Given the description of an element on the screen output the (x, y) to click on. 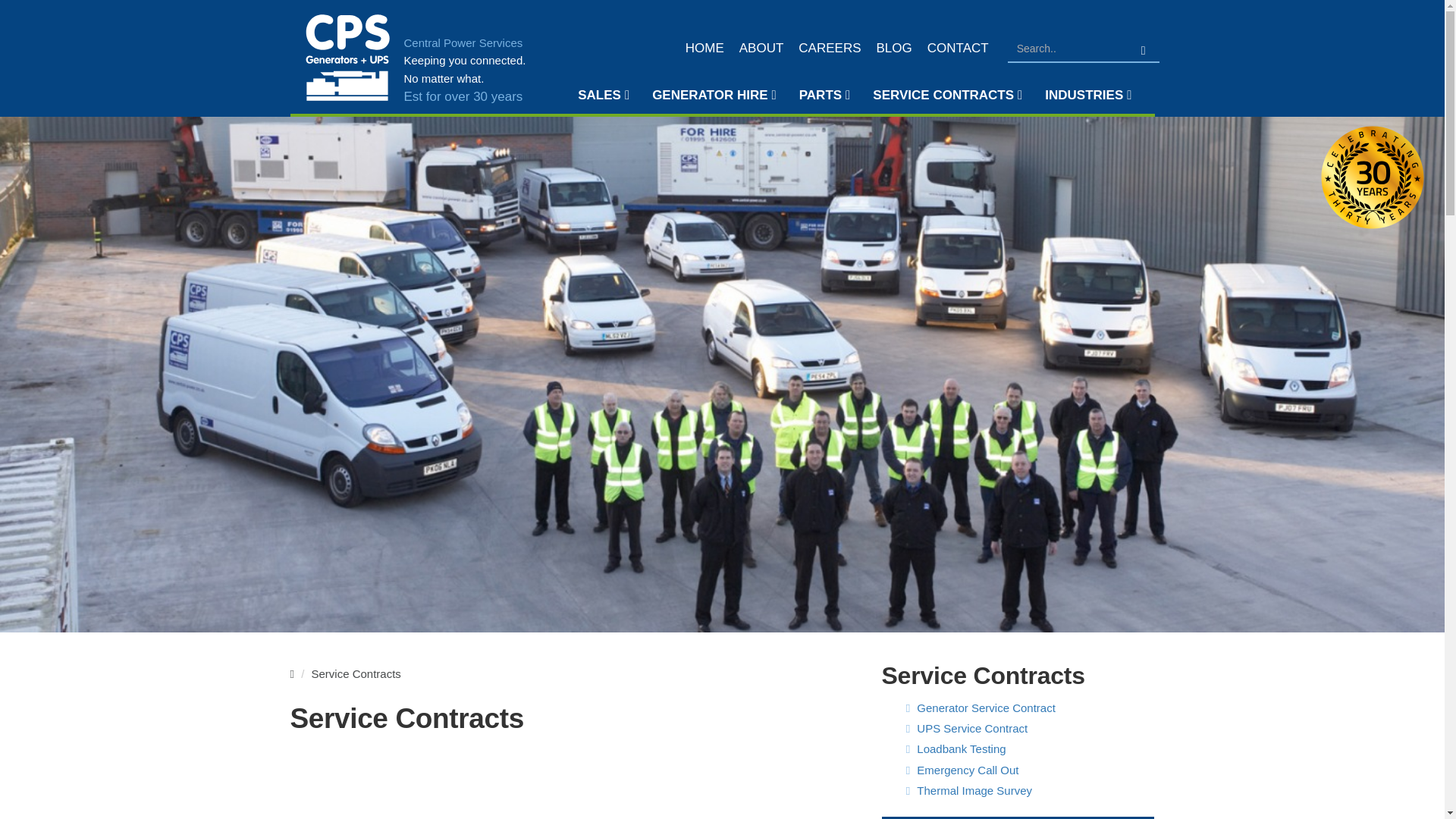
SALES (603, 95)
HOME (705, 48)
CONTACT (957, 48)
BLOG (894, 48)
CAREERS (828, 48)
ABOUT (762, 48)
